Given the description of an element on the screen output the (x, y) to click on. 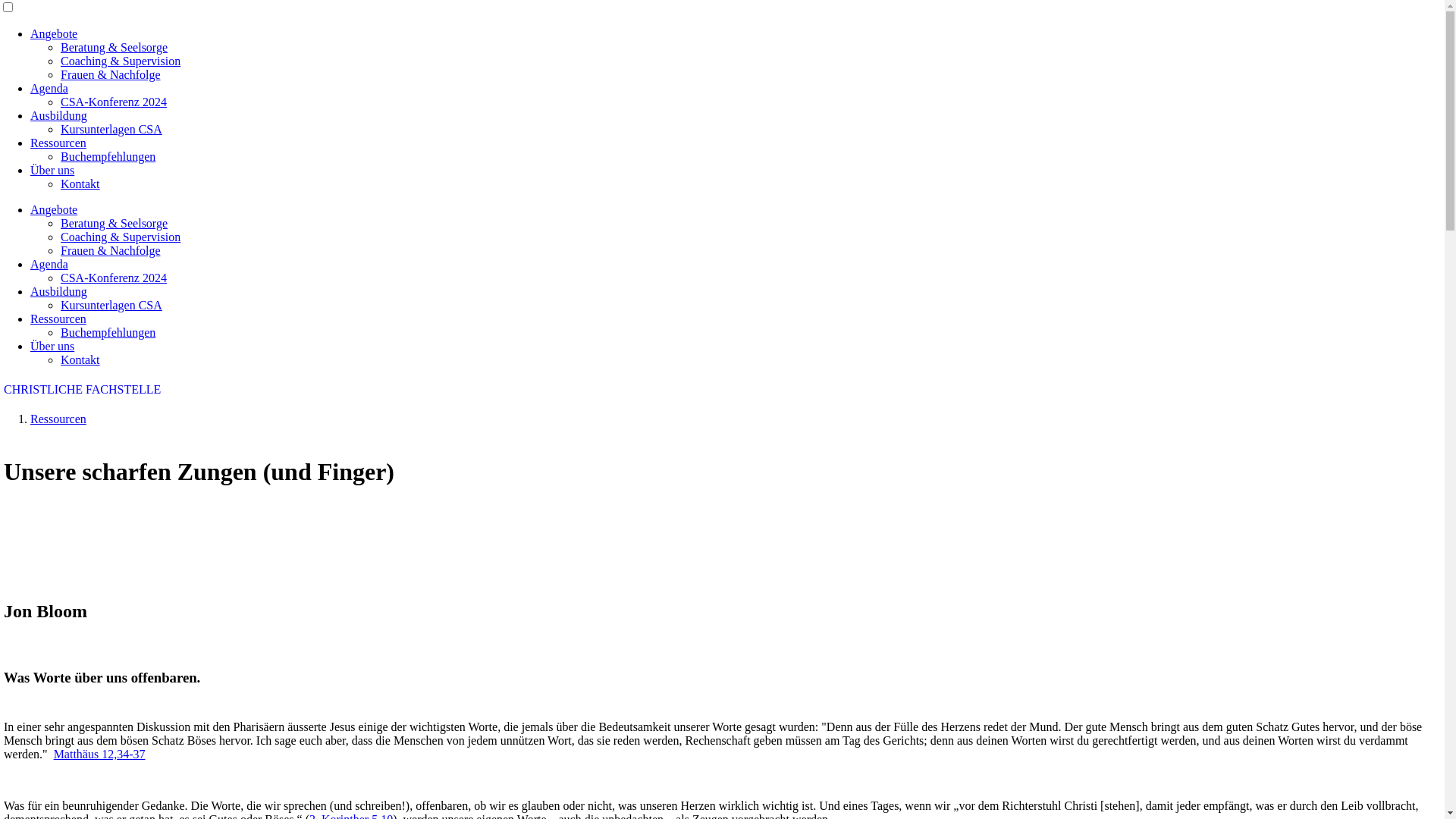
Angebote Element type: text (53, 33)
Coaching & Supervision Element type: text (120, 60)
CSA-Konferenz 2024 Element type: text (113, 101)
Kursunterlagen CSA Element type: text (111, 304)
Kontakt Element type: text (80, 359)
Ressourcen Element type: text (58, 418)
Beratung & Seelsorge Element type: text (113, 46)
Coaching & Supervision Element type: text (120, 236)
Agenda Element type: text (49, 87)
Buchempfehlungen Element type: text (107, 332)
Beratung & Seelsorge Element type: text (113, 222)
Buchempfehlungen Element type: text (107, 156)
Kursunterlagen CSA Element type: text (111, 128)
Frauen & Nachfolge Element type: text (110, 74)
Agenda Element type: text (49, 263)
Ressourcen Element type: text (58, 142)
Ausbildung Element type: text (58, 291)
CSA-Konferenz 2024 Element type: text (113, 277)
Frauen & Nachfolge Element type: text (110, 250)
Angebote Element type: text (53, 209)
Kontakt Element type: text (80, 183)
CHRISTLICHE FACHSTELLE Element type: text (81, 388)
Ausbildung Element type: text (58, 115)
Ressourcen Element type: text (58, 318)
